Given the description of an element on the screen output the (x, y) to click on. 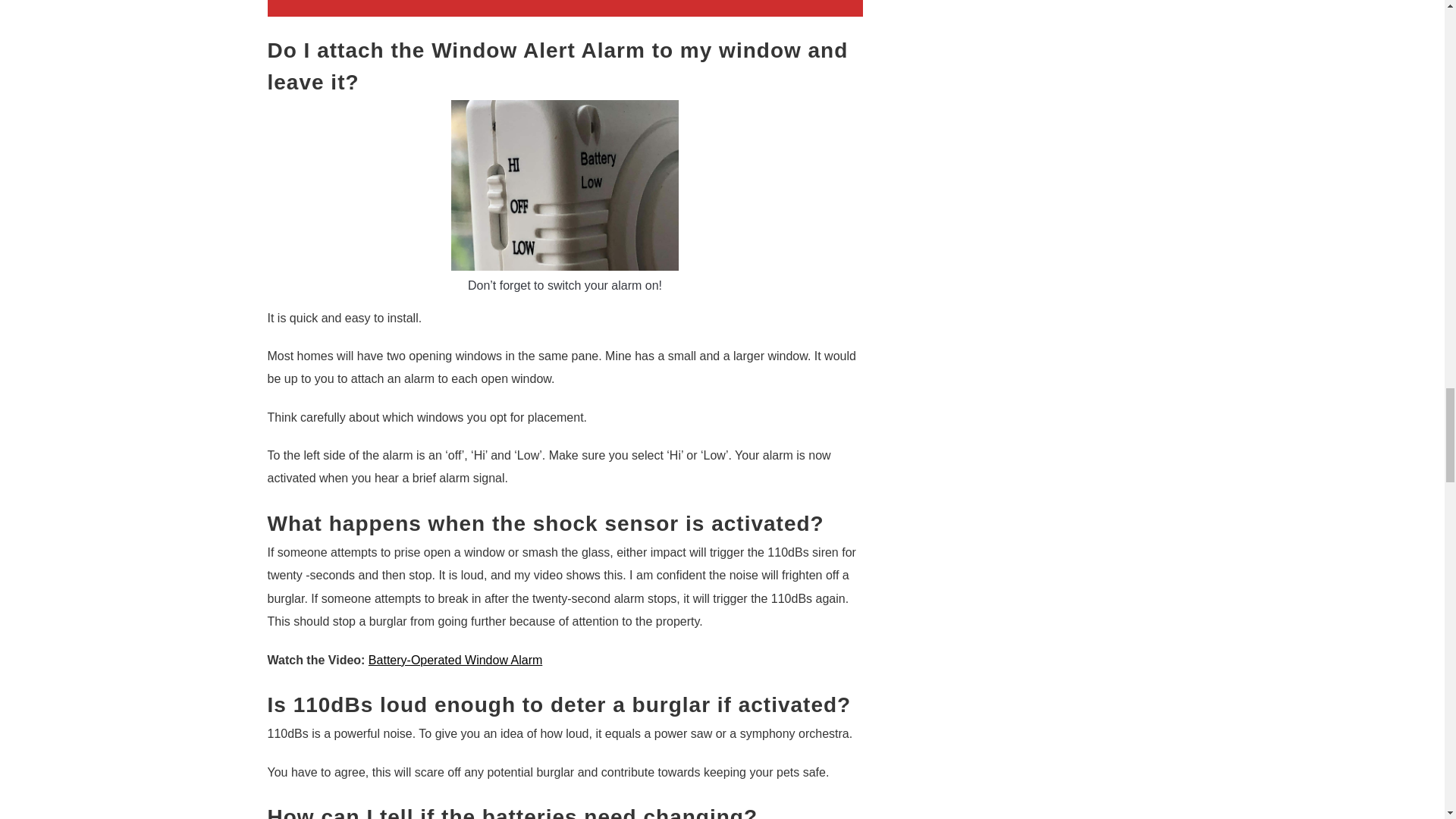
Battery-Operated Window Alarm (454, 659)
